Given the description of an element on the screen output the (x, y) to click on. 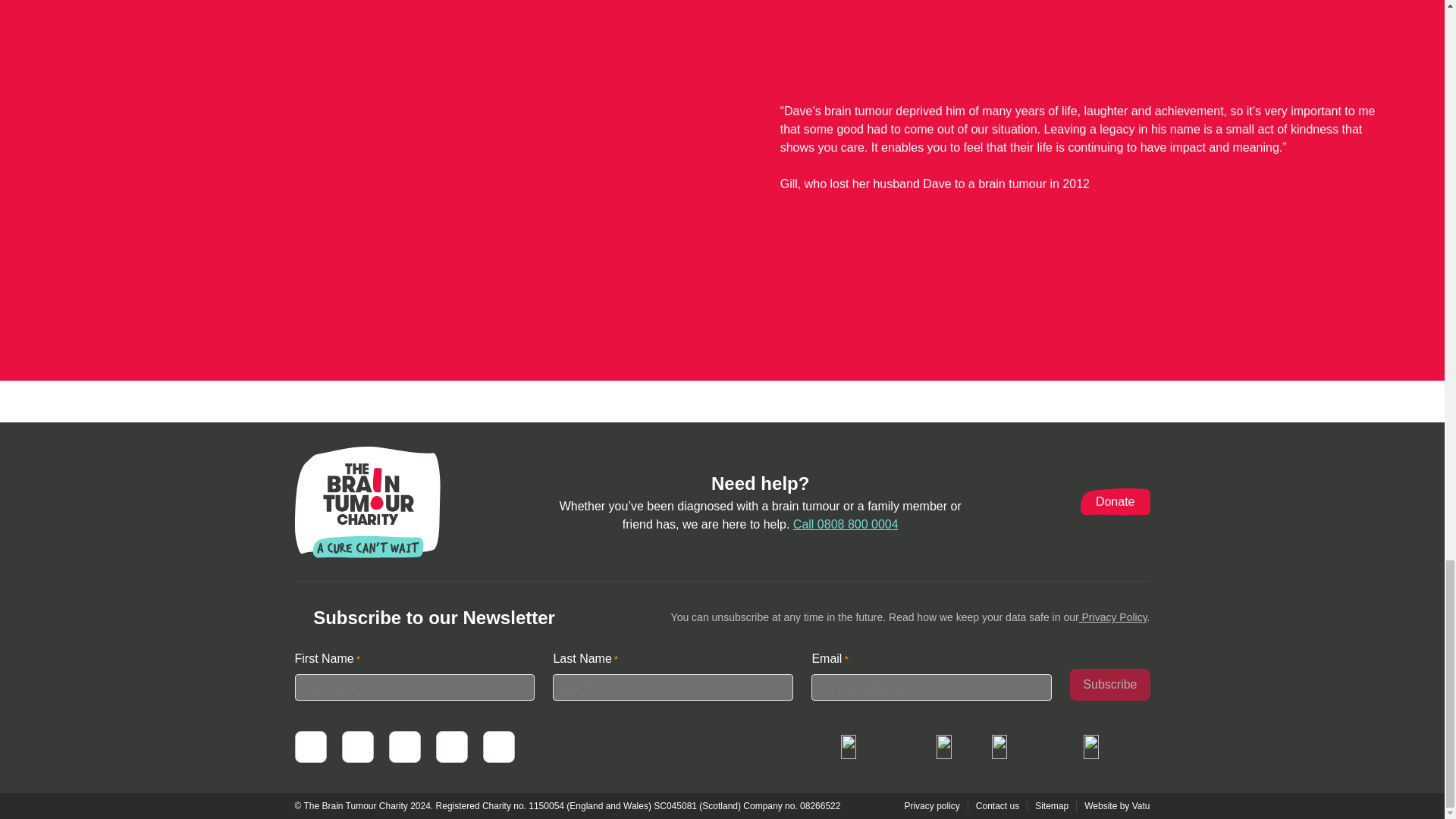
Instagram (497, 746)
YouTube (404, 746)
Twitter (356, 746)
Facebook (310, 746)
Subscribe (1110, 685)
Tiktok (451, 746)
